Given the description of an element on the screen output the (x, y) to click on. 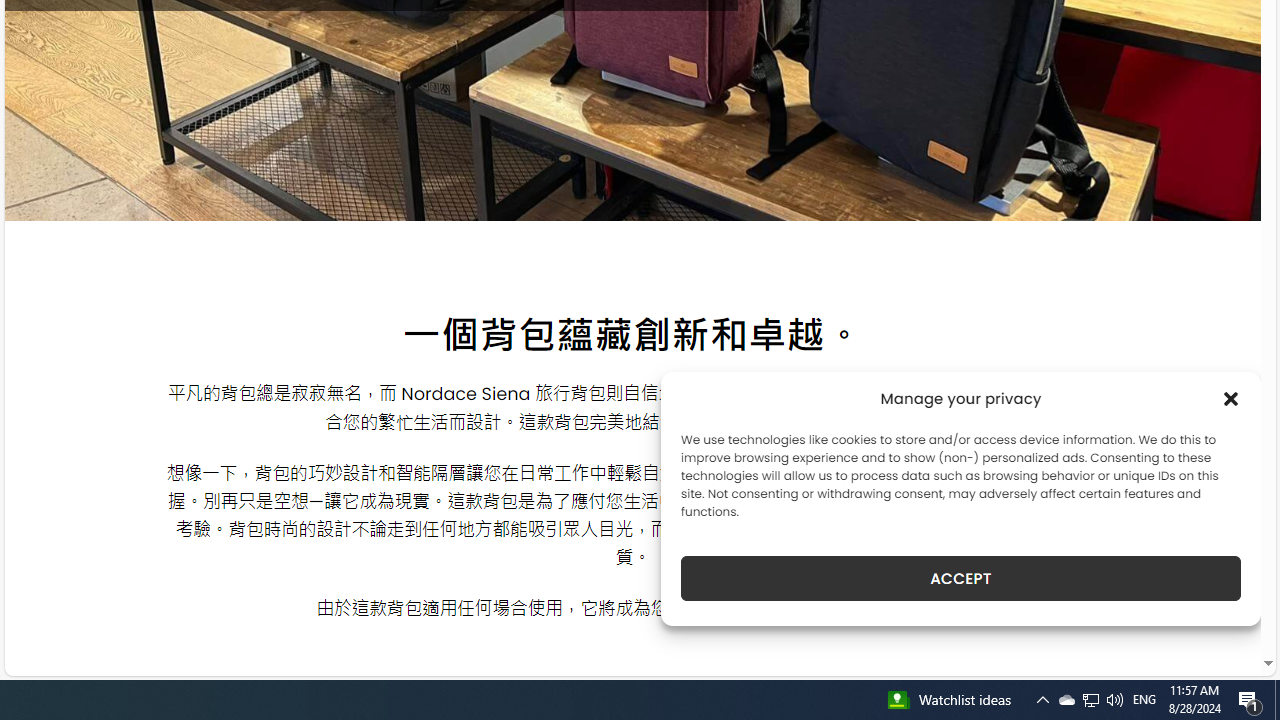
Class: cmplz-close (1231, 398)
ACCEPT (960, 578)
